Given the description of an element on the screen output the (x, y) to click on. 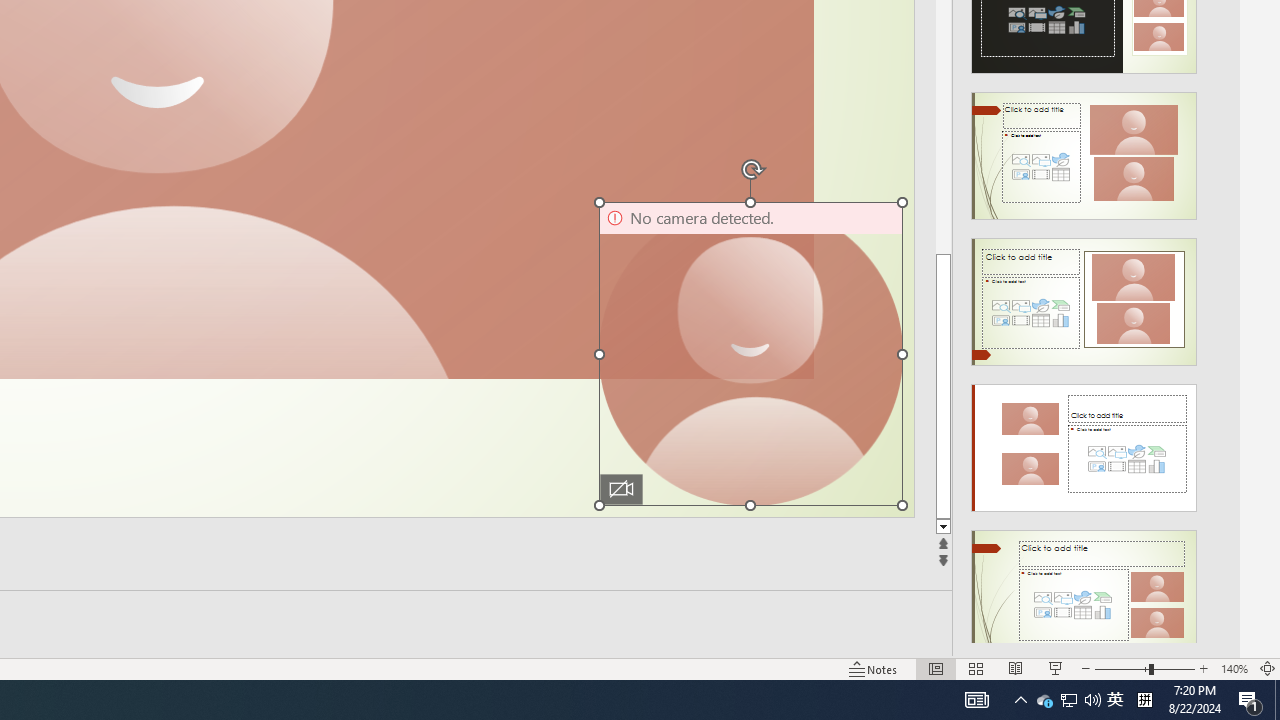
Normal (936, 668)
Camera 4, No camera detected. (750, 353)
Reading View (1015, 668)
Design Idea (1083, 587)
Slide Show (1055, 668)
Zoom 140% (1234, 668)
Zoom (1144, 668)
Zoom to Fit  (1267, 668)
Line down (943, 527)
Class: NetUIImage (1083, 593)
Zoom Out (1121, 668)
Slide Sorter (975, 668)
Notes  (874, 668)
Zoom In (1204, 668)
